Given the description of an element on the screen output the (x, y) to click on. 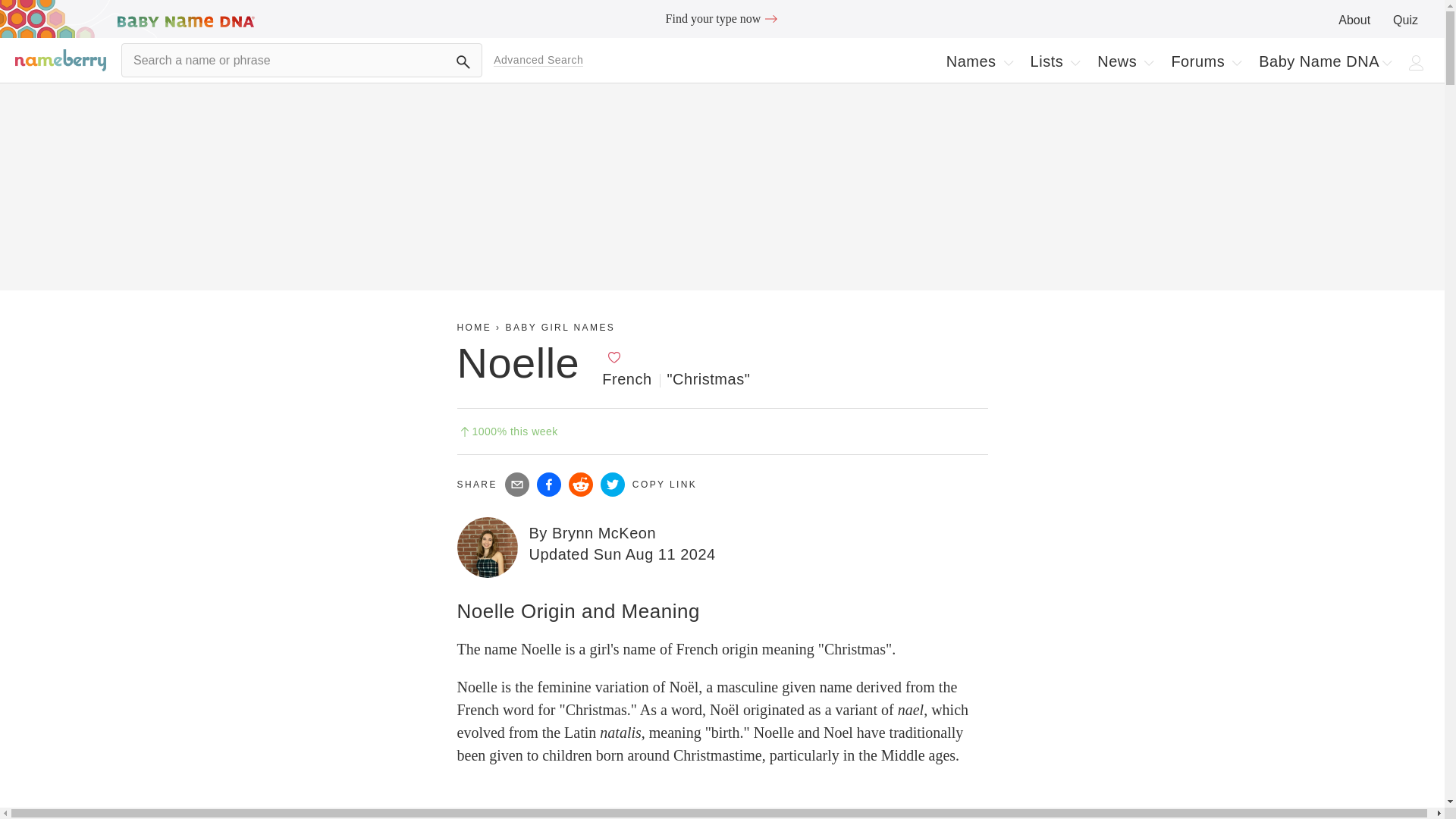
Chevron - Down (1236, 62)
Arrow Right (979, 61)
Quiz (770, 18)
Chevron - Down (1405, 19)
Chevron - Down (1386, 62)
About (1008, 62)
Chevron - Down (1354, 19)
